Given the description of an element on the screen output the (x, y) to click on. 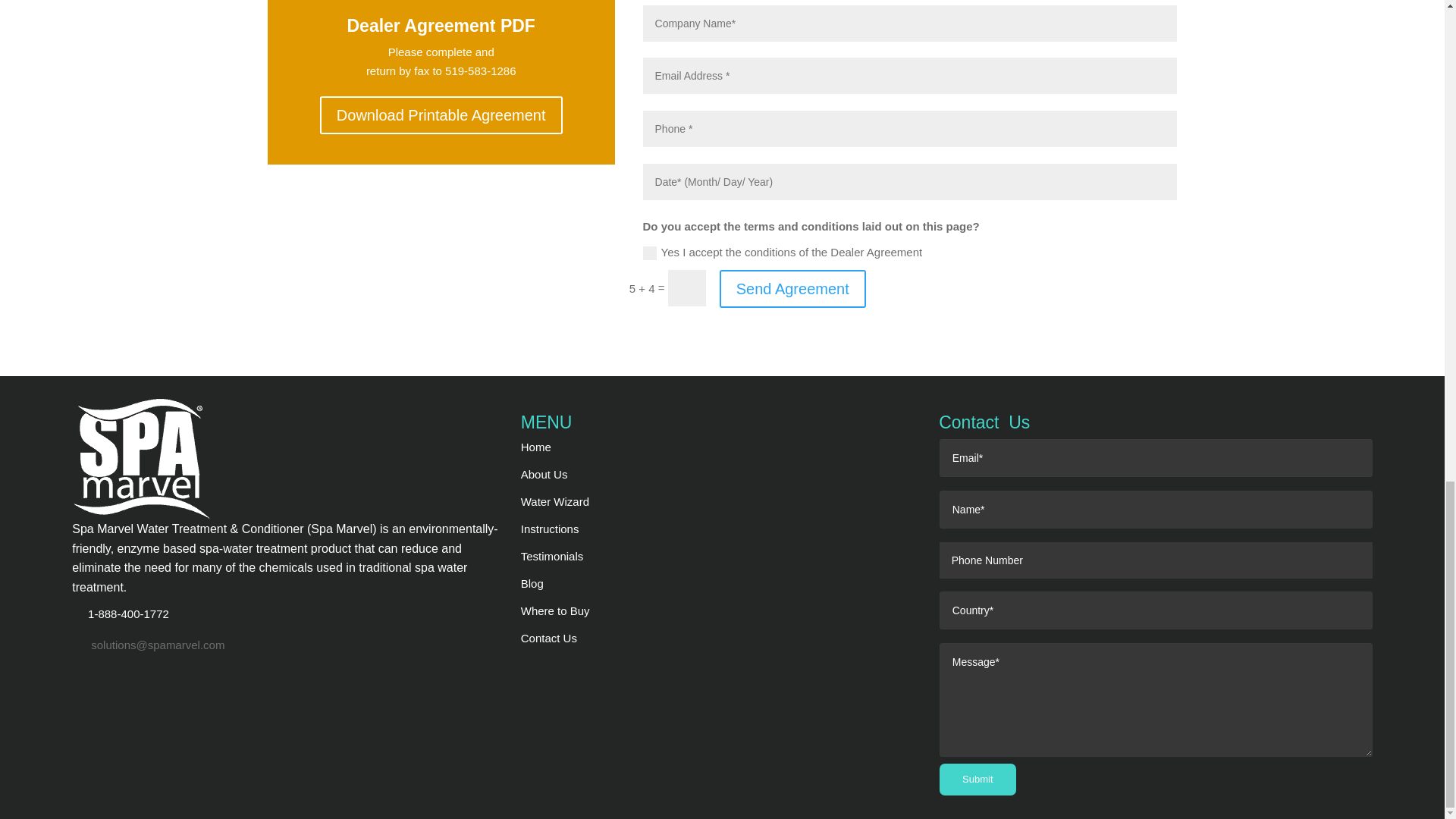
Only numbers allowed. (910, 128)
spalogob (141, 458)
